Given the description of an element on the screen output the (x, y) to click on. 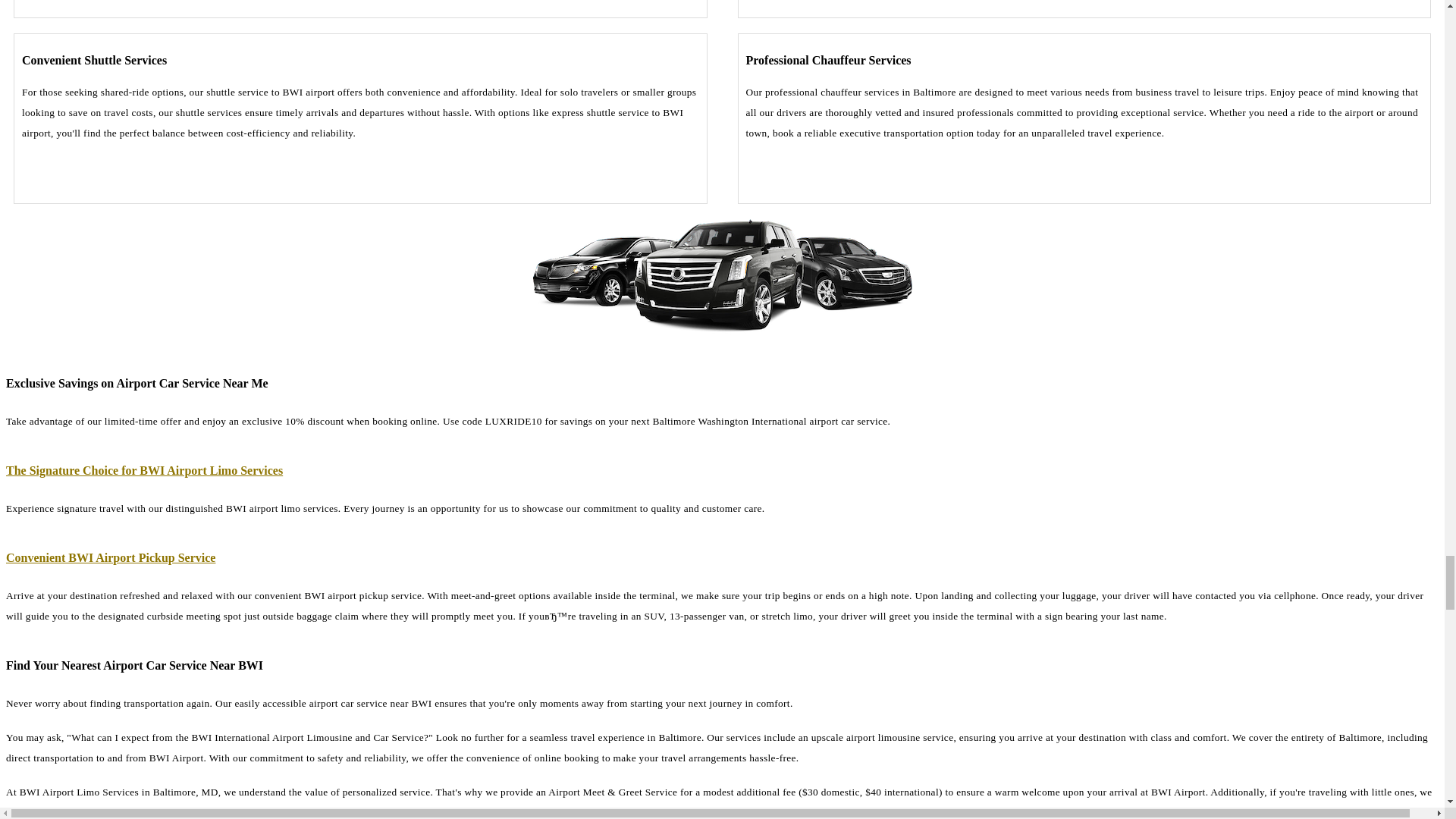
Convenient BWI Airport Pickup Service (110, 557)
The Signature Choice for BWI Airport Limo Services (143, 470)
